Given the description of an element on the screen output the (x, y) to click on. 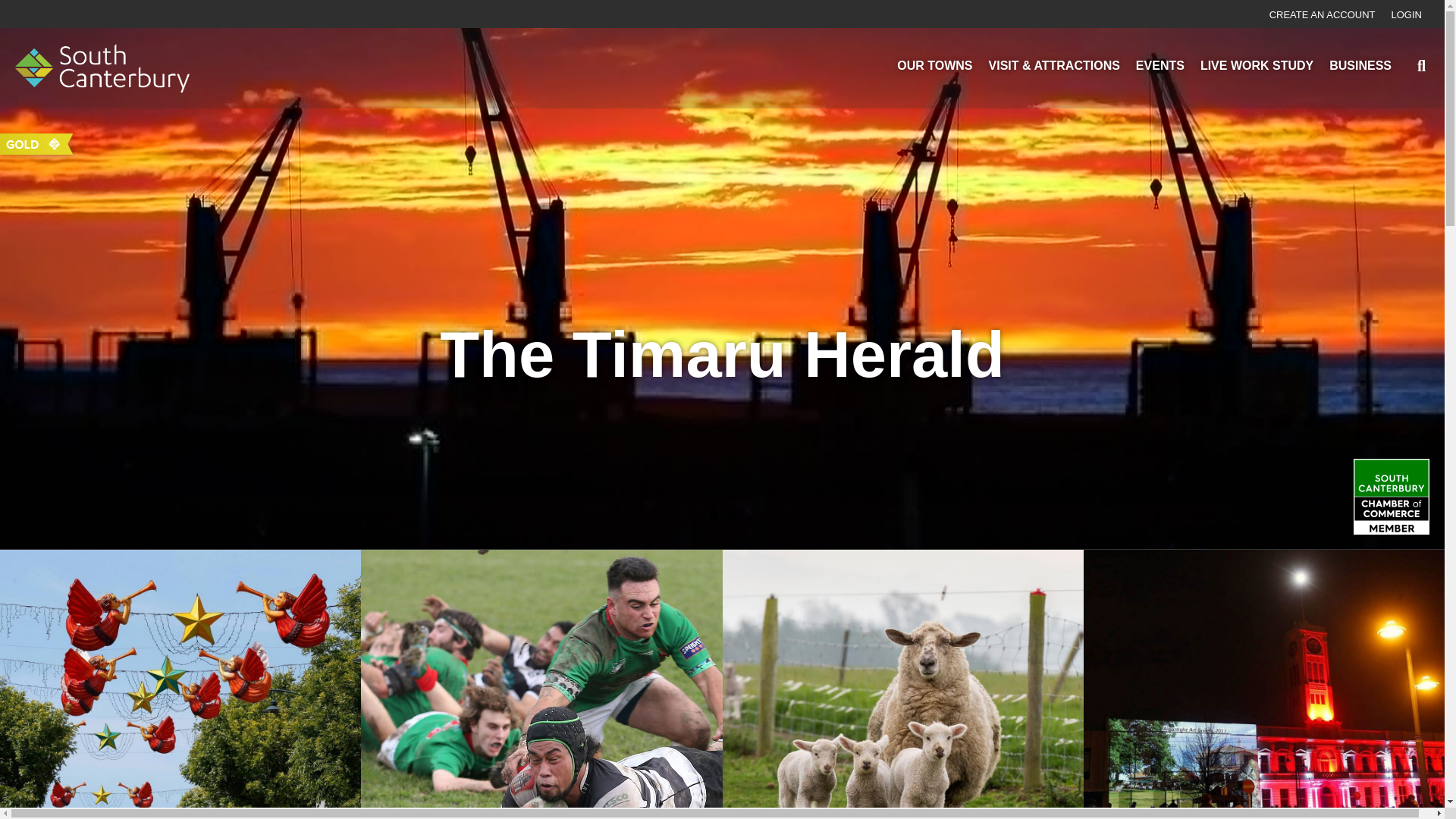
CREATE AN ACCOUNT (1314, 15)
LOGIN (1398, 15)
OUR TOWNS (934, 67)
